Given the description of an element on the screen output the (x, y) to click on. 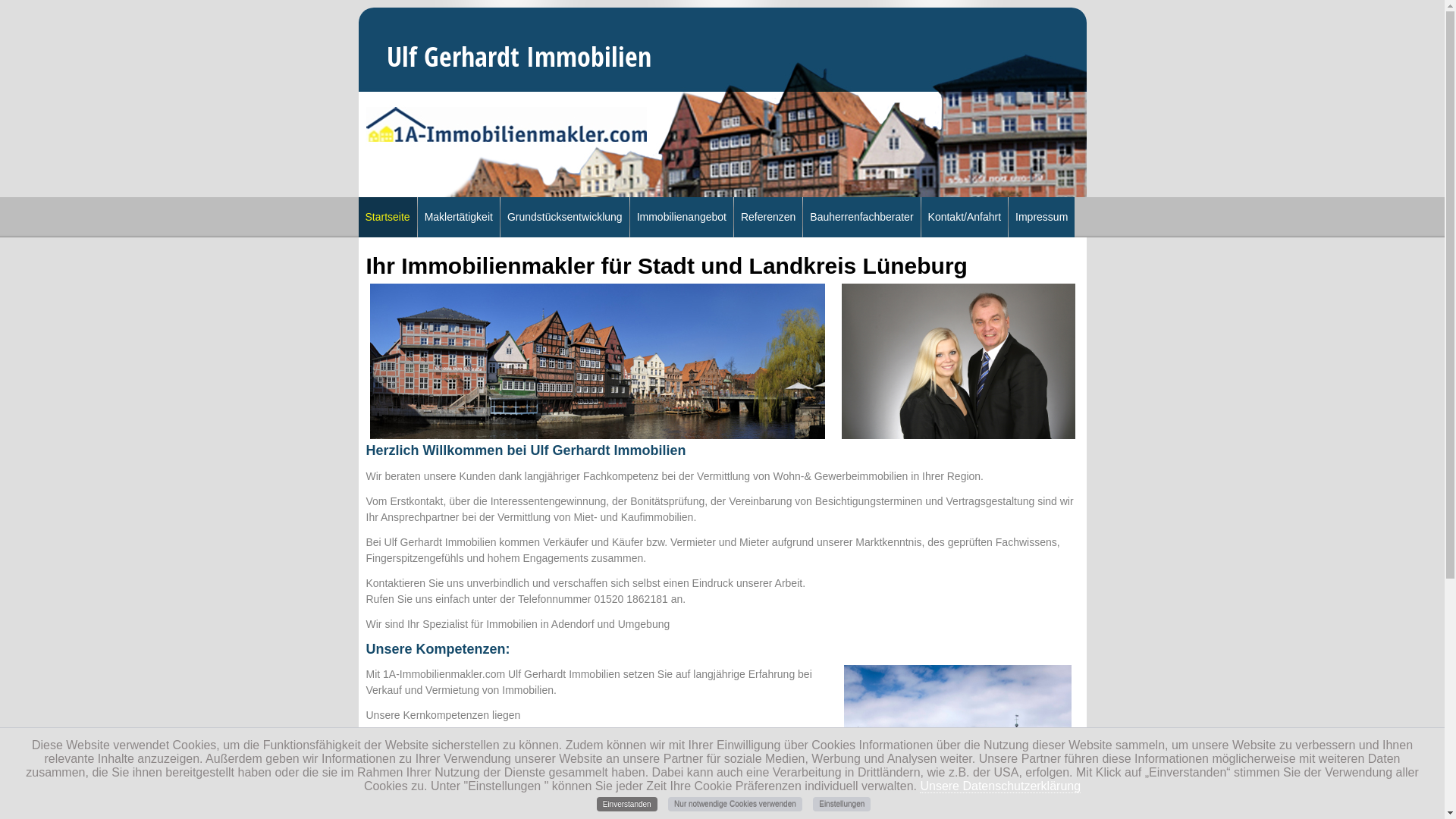
Ulf Gerhardt Immobilien Element type: hover (597, 361)
Einstellungen Element type: text (841, 804)
Referenzen Element type: text (768, 217)
1 Element type: text (679, 280)
Einstellungen speichern Element type: text (896, 594)
Ulf Gerhardt Immobilien Element type: hover (958, 361)
Nur notwendige Cookies verwenden Element type: text (727, 594)
Startseite Element type: text (386, 217)
Nur notwendige Cookies verwenden Element type: text (735, 804)
Bauherrenfachberater Element type: text (861, 217)
Kontakt/Anfahrt Element type: text (964, 217)
Impressum Element type: text (1041, 217)
Einverstanden Element type: text (626, 804)
Immobilienangebot Element type: text (681, 217)
Einverstanden Element type: text (558, 594)
